Given the description of an element on the screen output the (x, y) to click on. 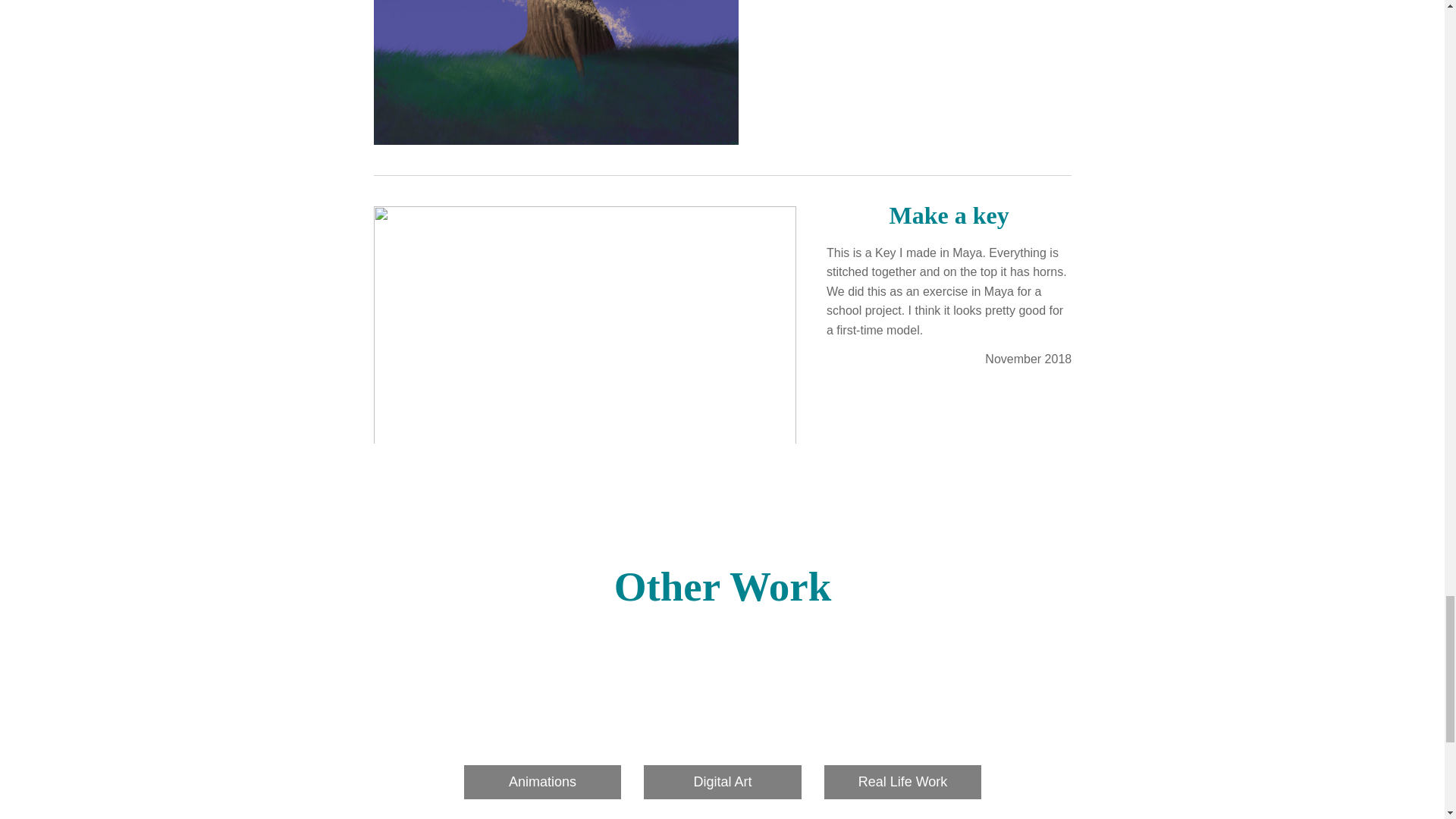
Animations (542, 720)
Digital Art (722, 720)
Real Life Work (902, 720)
